Given the description of an element on the screen output the (x, y) to click on. 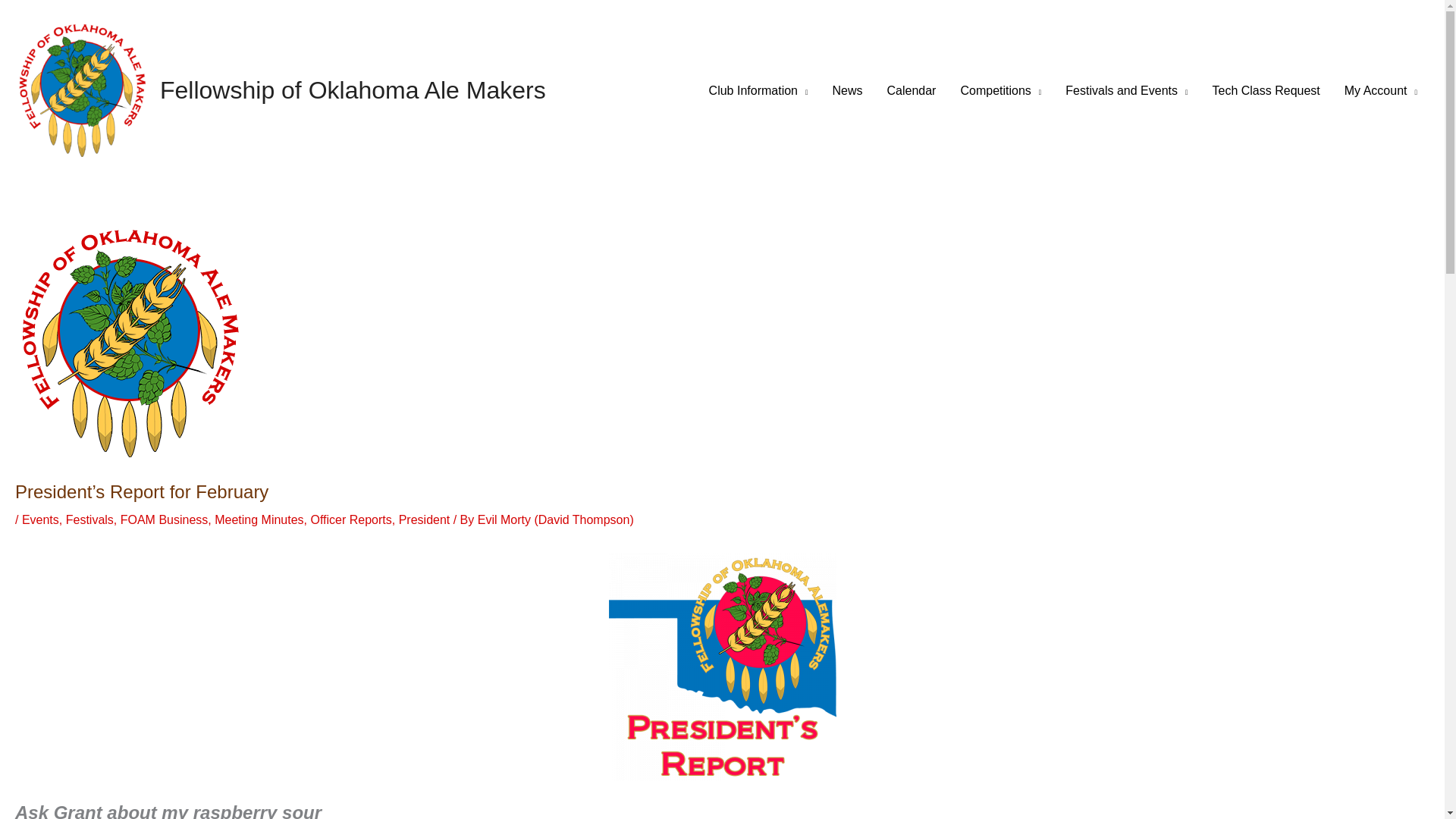
Fellowship of Oklahoma Ale Makers (353, 90)
Competitions (999, 90)
News (848, 90)
Calendar (912, 90)
Club Information (759, 90)
